Given the description of an element on the screen output the (x, y) to click on. 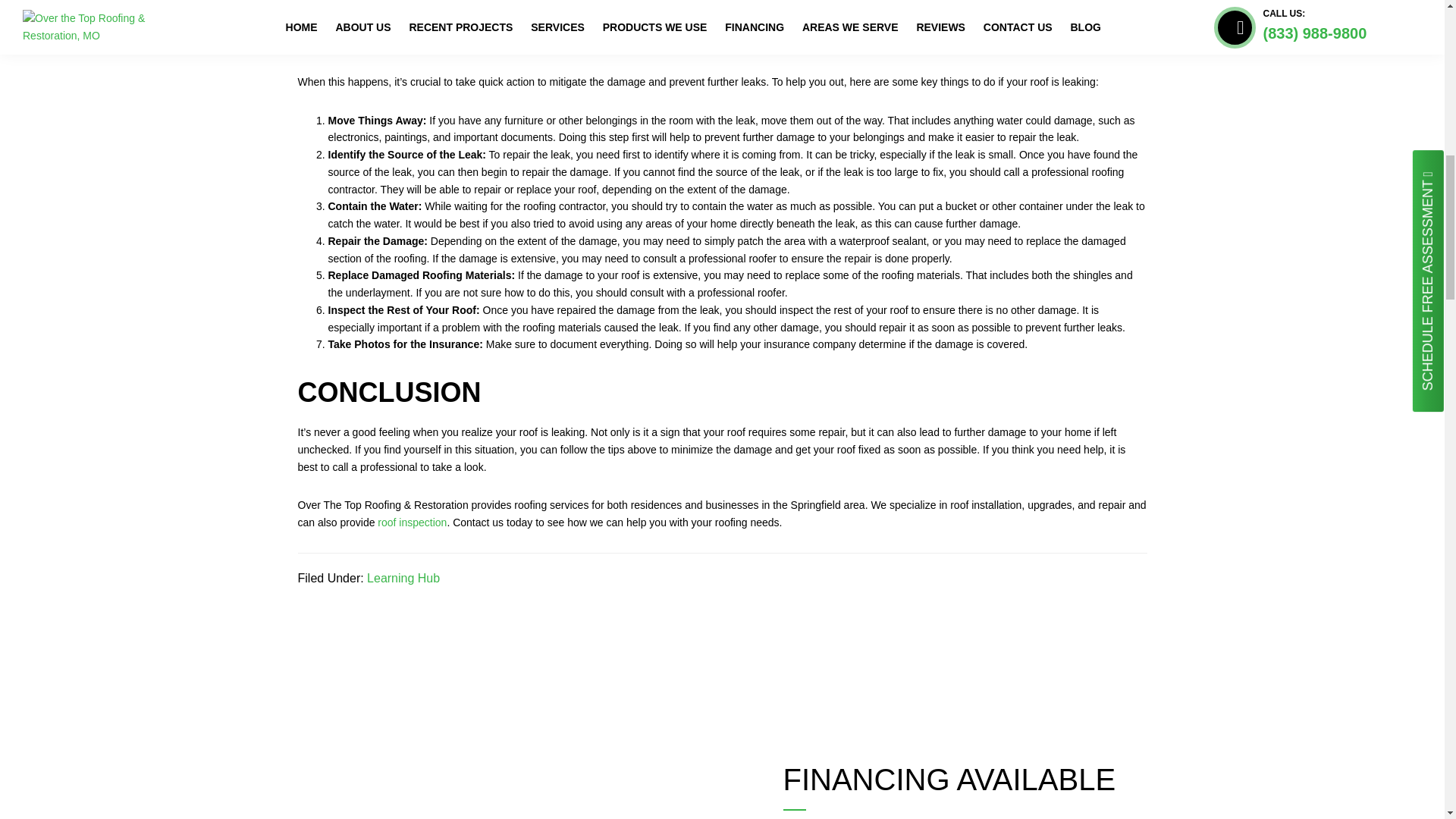
roof inspection (411, 522)
Learning Hub (402, 577)
